Given the description of an element on the screen output the (x, y) to click on. 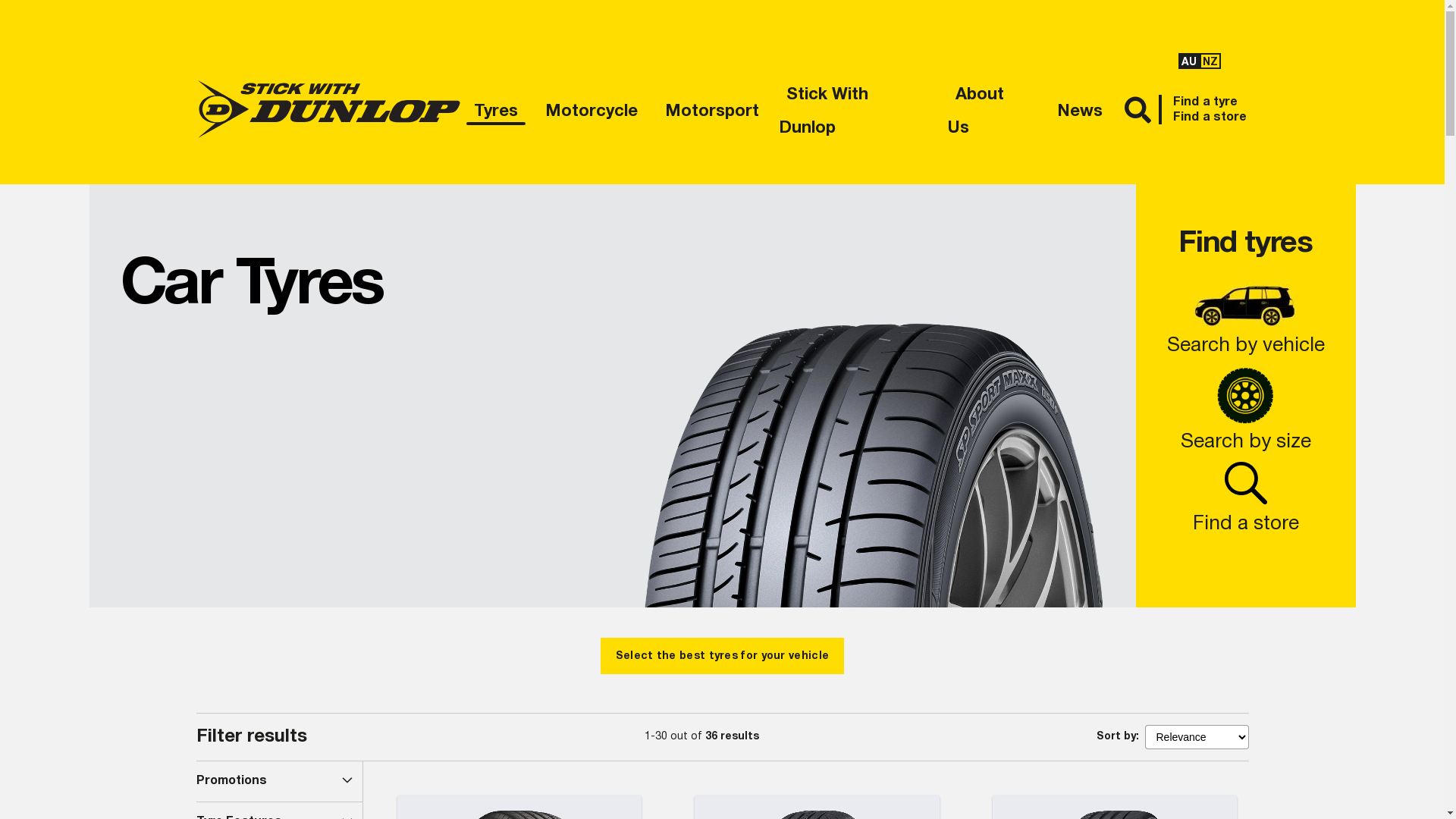
News Element type: text (1079, 109)
Find a store Element type: text (1245, 511)
Select the best tyres for your vehicle Element type: text (722, 655)
Stick With Dunlop Element type: text (856, 108)
Find a store Element type: text (1210, 116)
About Us Element type: text (991, 108)
NZ Element type: text (1210, 60)
Tyres Element type: text (494, 109)
AU Element type: text (1188, 60)
Motorcycle Element type: text (590, 109)
Motorsport Element type: text (710, 109)
Find a tyre Element type: text (1205, 102)
